Given the description of an element on the screen output the (x, y) to click on. 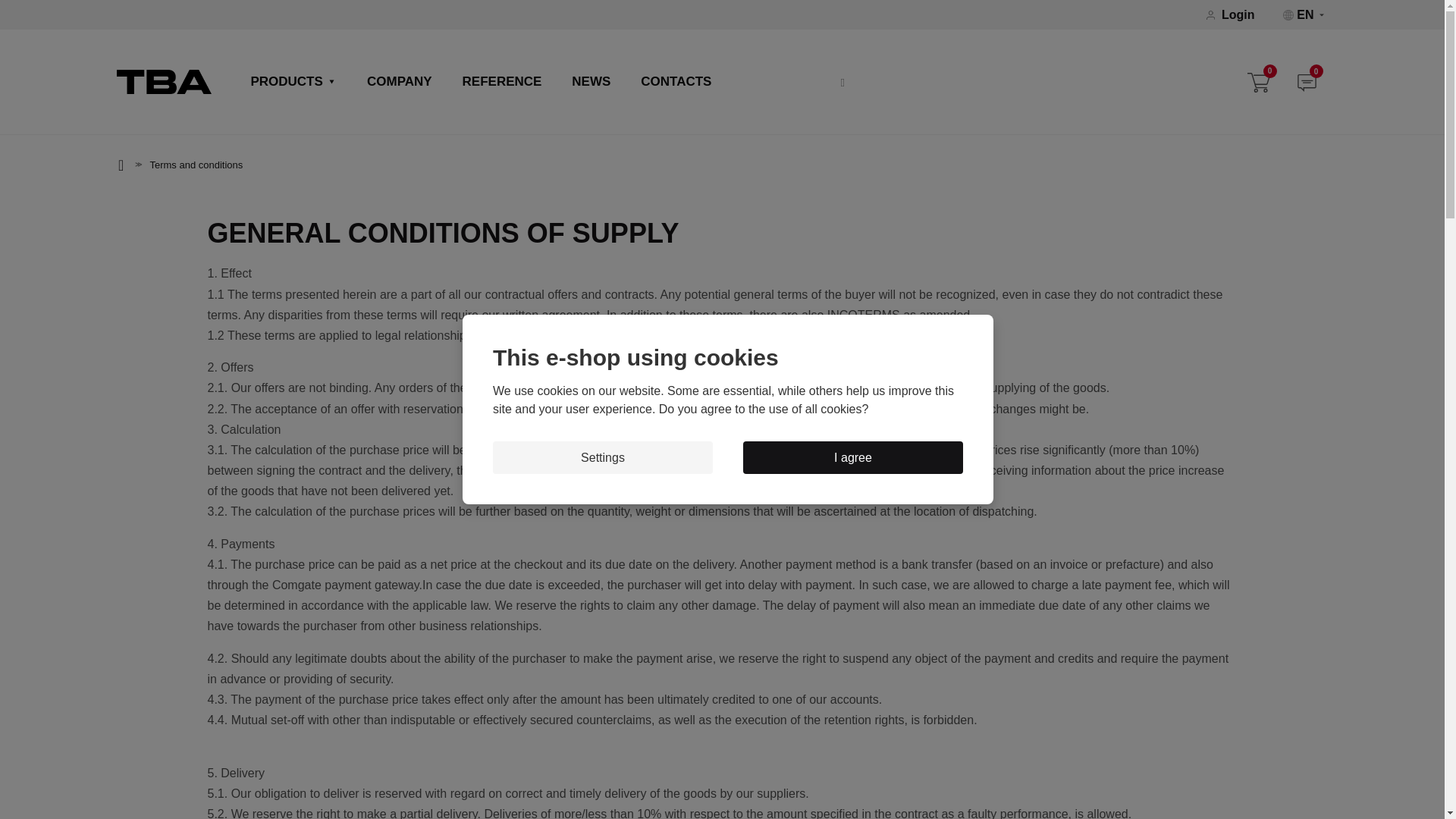
EN (1304, 14)
REFERENCE (501, 82)
CONTACTS (676, 82)
NEWS (591, 82)
COMPANY (399, 82)
Login (1238, 14)
I agree (852, 457)
PRODUCTS (293, 82)
Settings (603, 457)
Login (1238, 14)
Home page (163, 80)
